Given the description of an element on the screen output the (x, y) to click on. 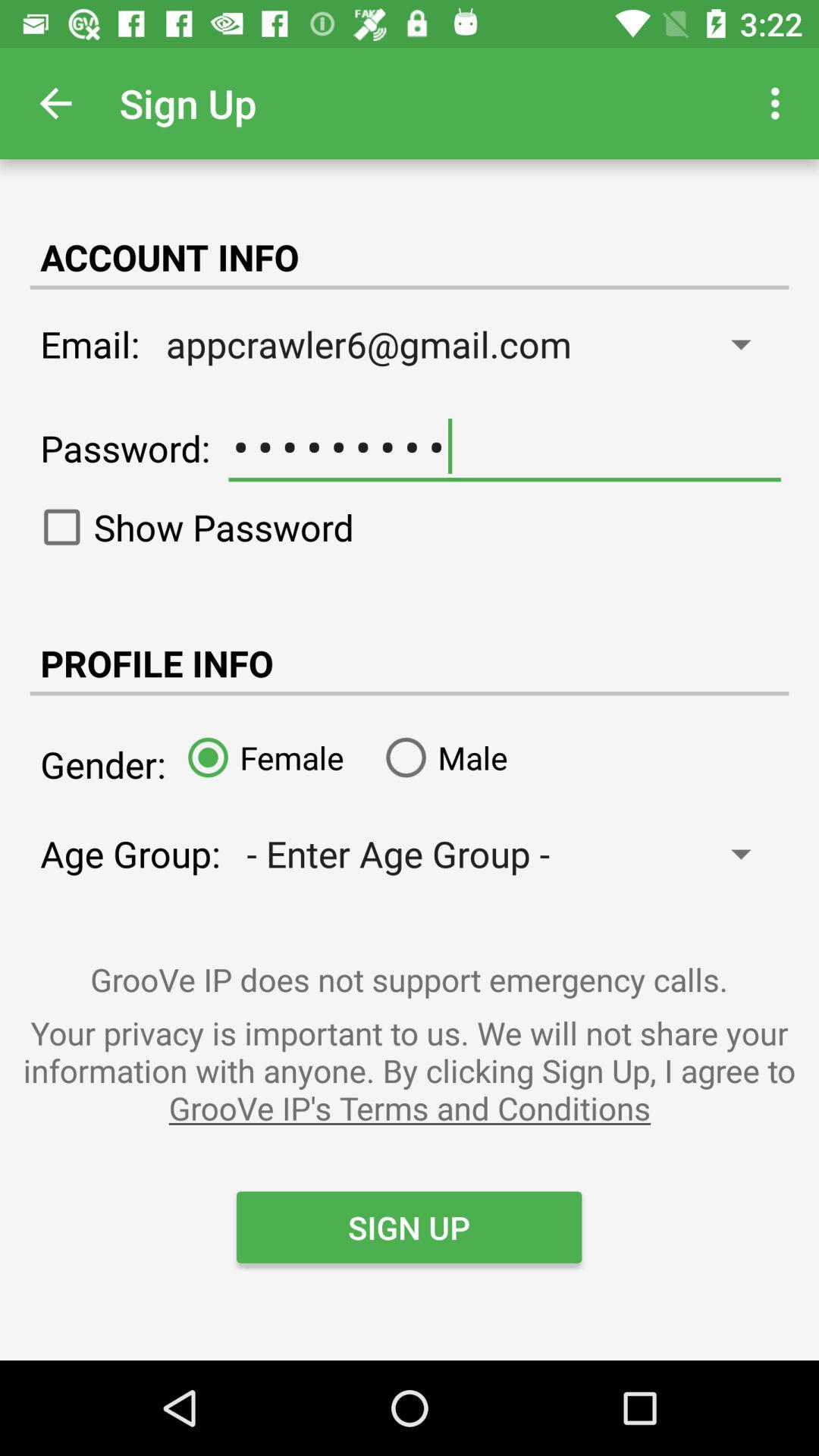
turn on icon above sign up icon (409, 1070)
